Given the description of an element on the screen output the (x, y) to click on. 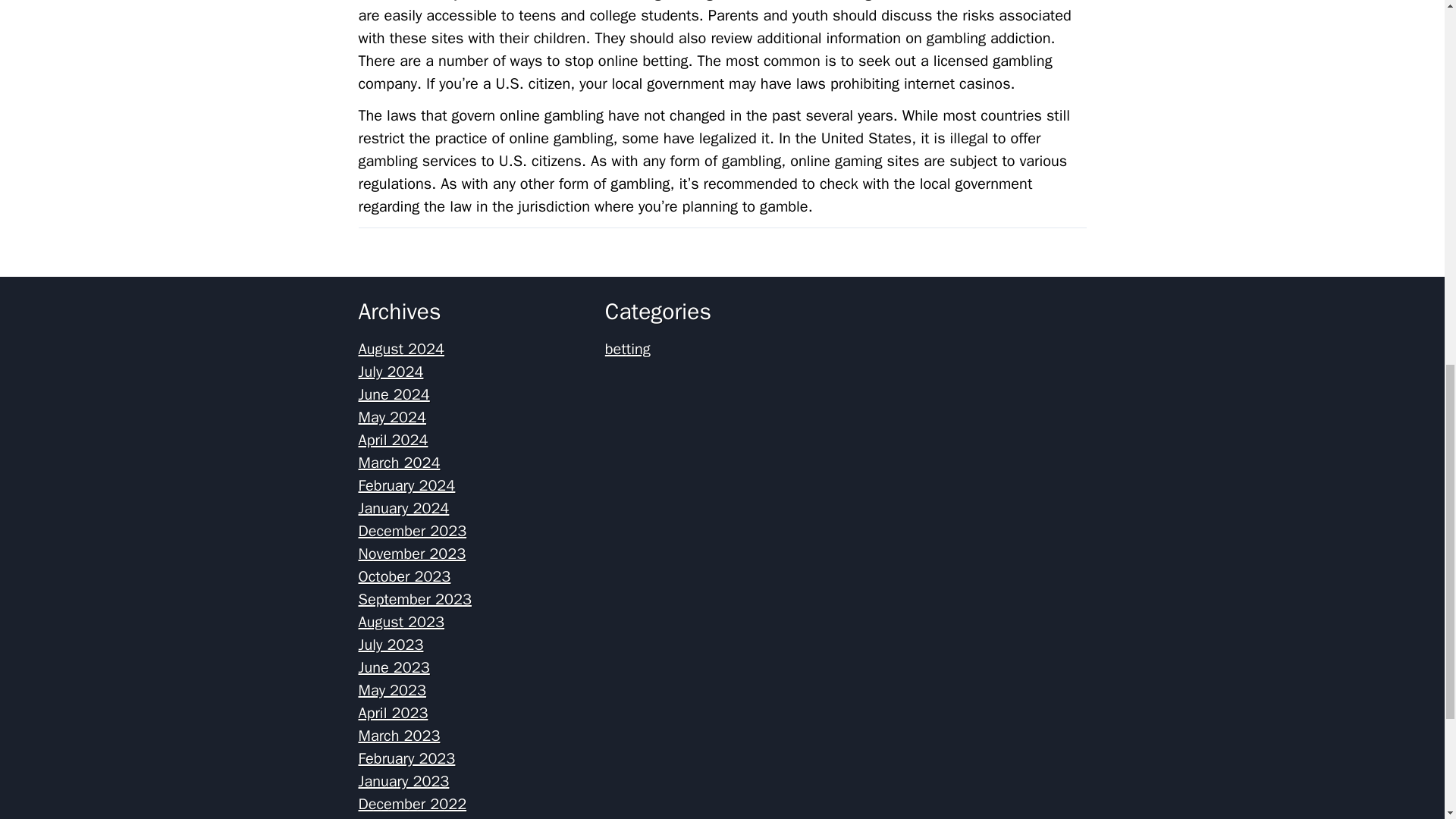
June 2024 (393, 394)
June 2023 (393, 667)
April 2024 (393, 439)
July 2024 (390, 371)
December 2022 (411, 804)
August 2023 (401, 621)
November 2023 (411, 553)
January 2023 (403, 781)
May 2024 (392, 416)
July 2023 (390, 644)
